Given the description of an element on the screen output the (x, y) to click on. 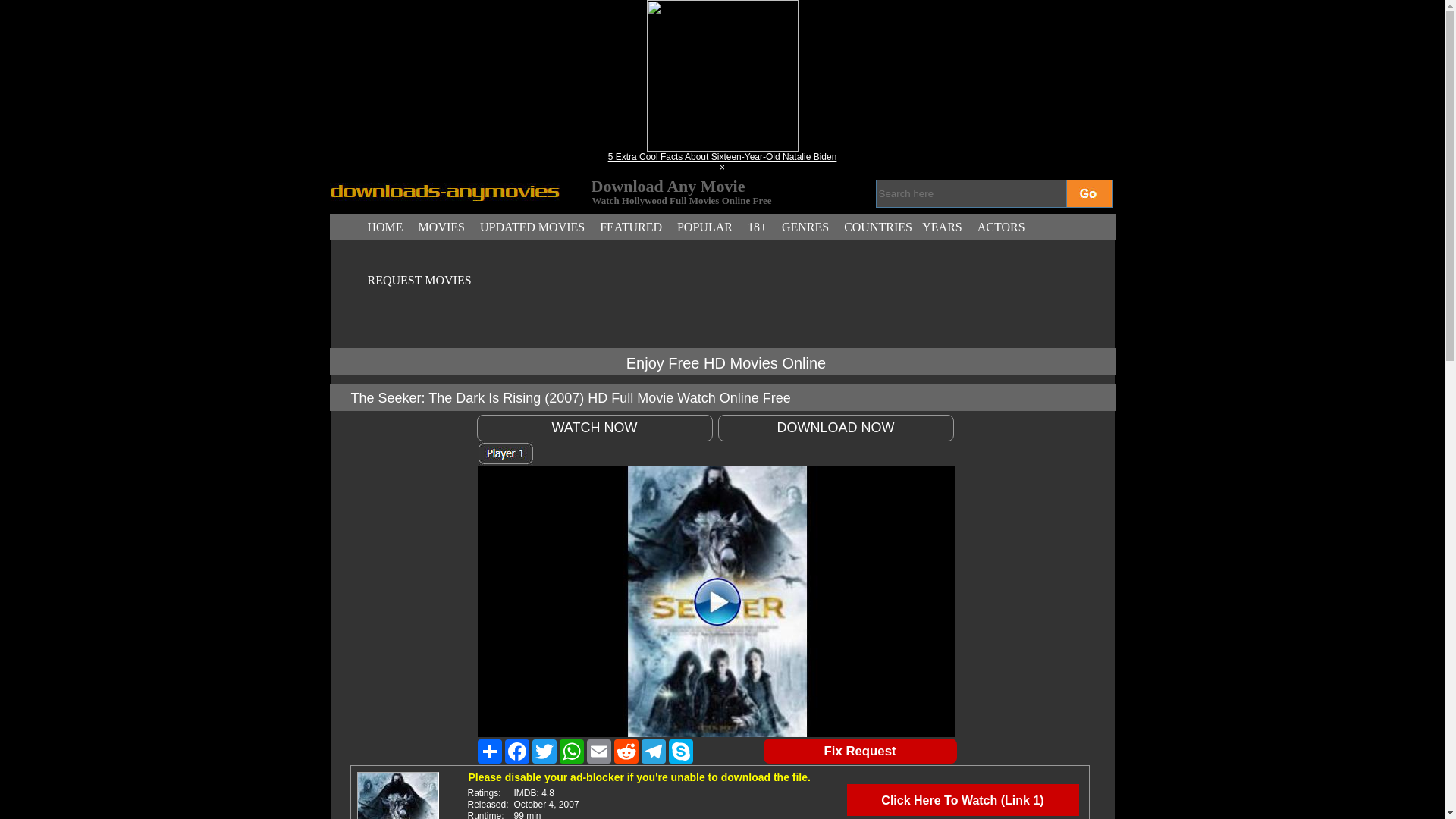
POPULAR (704, 226)
Updated Movies (532, 226)
Actors (1001, 226)
Movies (441, 226)
Countries (877, 226)
COUNTRIES (877, 226)
Request movies (420, 280)
MOVIES (441, 226)
FEATURED (630, 226)
Genres (804, 226)
